Given the description of an element on the screen output the (x, y) to click on. 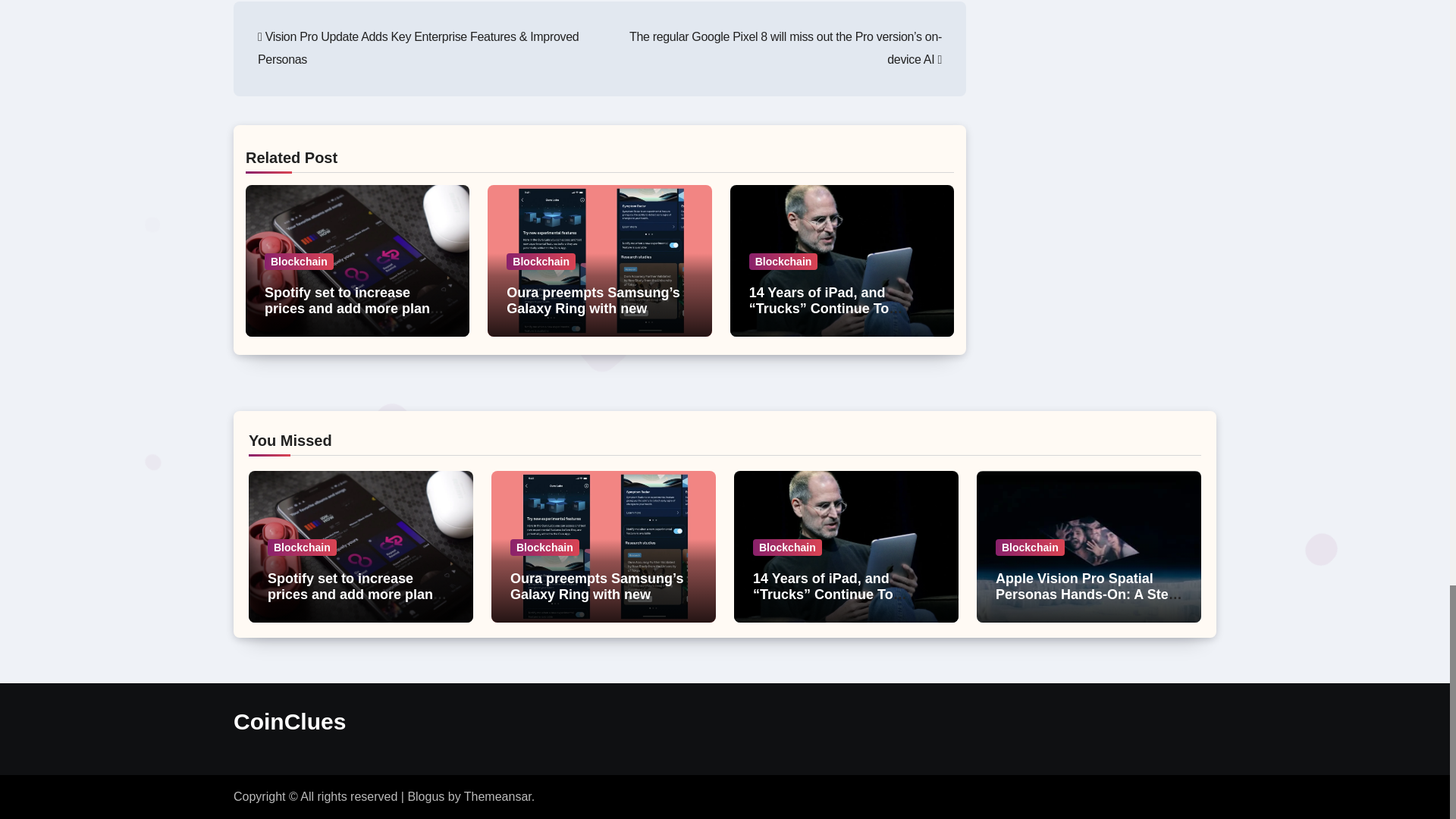
Blockchain (783, 261)
Spotify set to increase prices and add more plans soon (354, 308)
Blockchain (298, 261)
Blockchain (540, 261)
